Given the description of an element on the screen output the (x, y) to click on. 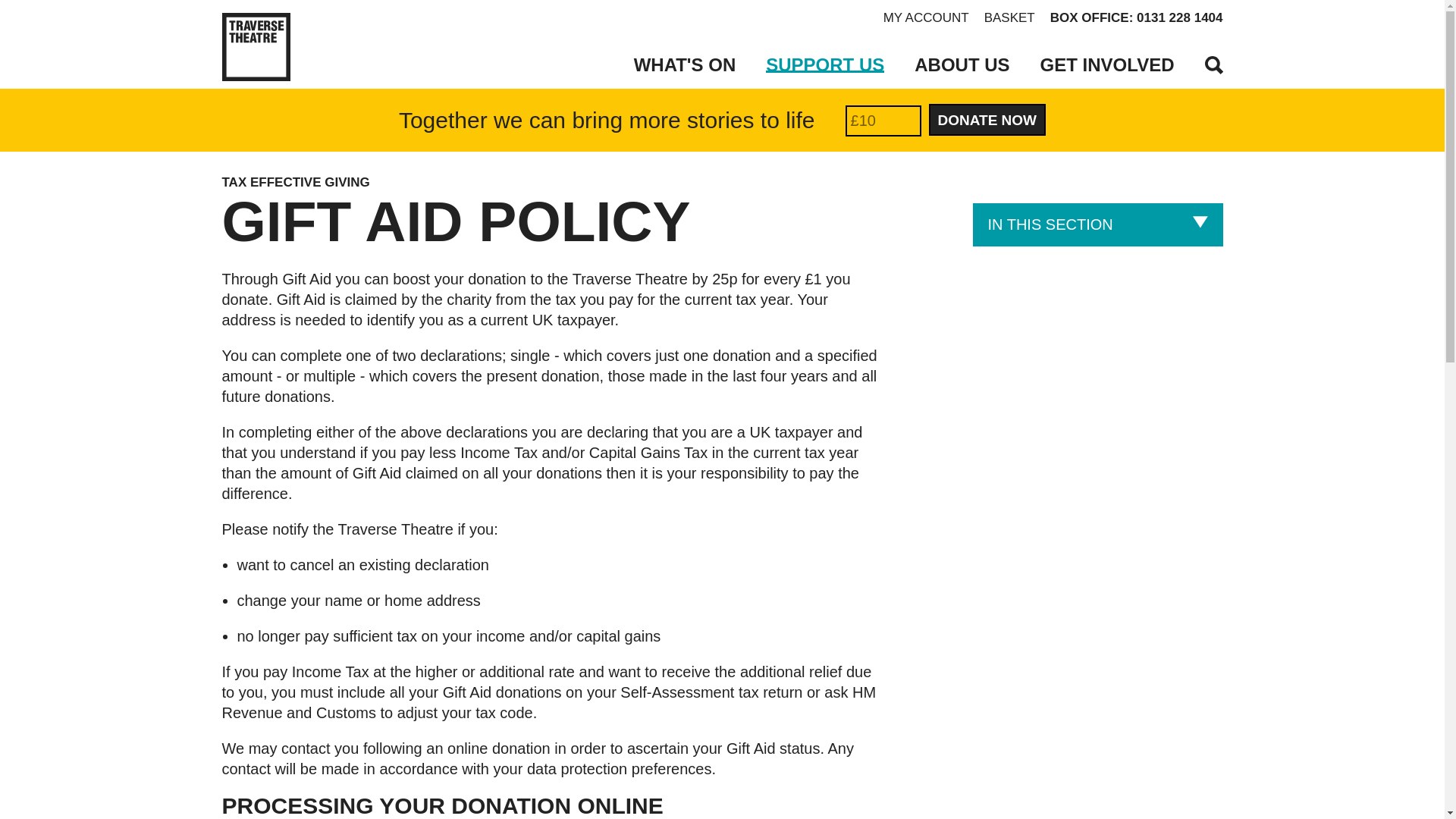
ABOUT US (961, 64)
BASKET (1009, 17)
IN THIS SECTION (1097, 224)
GET INVOLVED (1107, 64)
SUPPORT US (824, 64)
MY ACCOUNT (926, 17)
BOX OFFICE: 0131 228 1404 (1136, 17)
DONATE NOW (987, 119)
TAX EFFECTIVE GIVING (513, 182)
WHAT'S ON (684, 64)
